Given the description of an element on the screen output the (x, y) to click on. 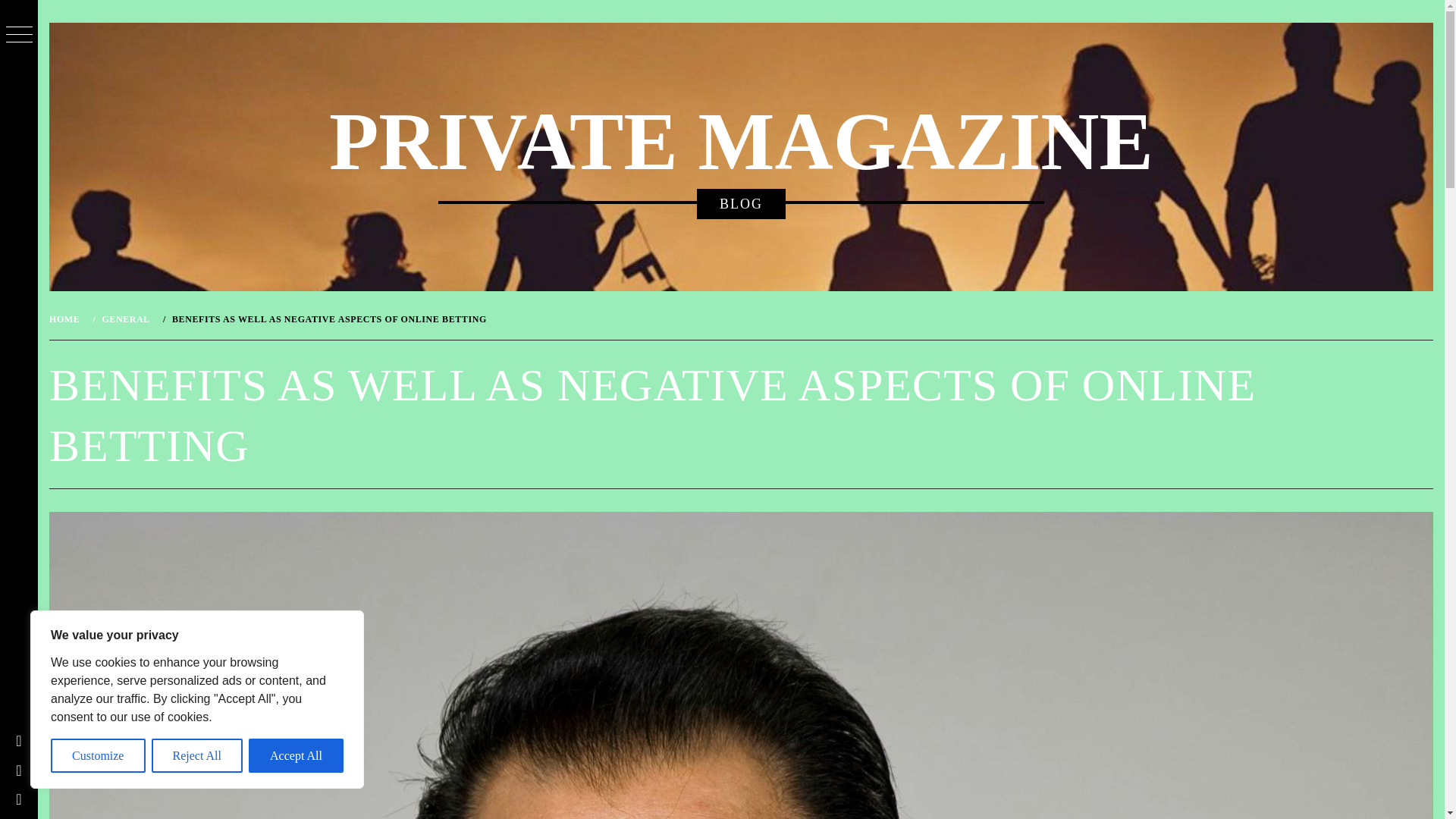
BENEFITS AS WELL AS NEGATIVE ASPECTS OF ONLINE BETTING (327, 318)
HOME (66, 318)
Reject All (197, 755)
PRIVATE MAGAZINE (741, 141)
Customize (97, 755)
GENERAL (124, 318)
Accept All (295, 755)
